Given the description of an element on the screen output the (x, y) to click on. 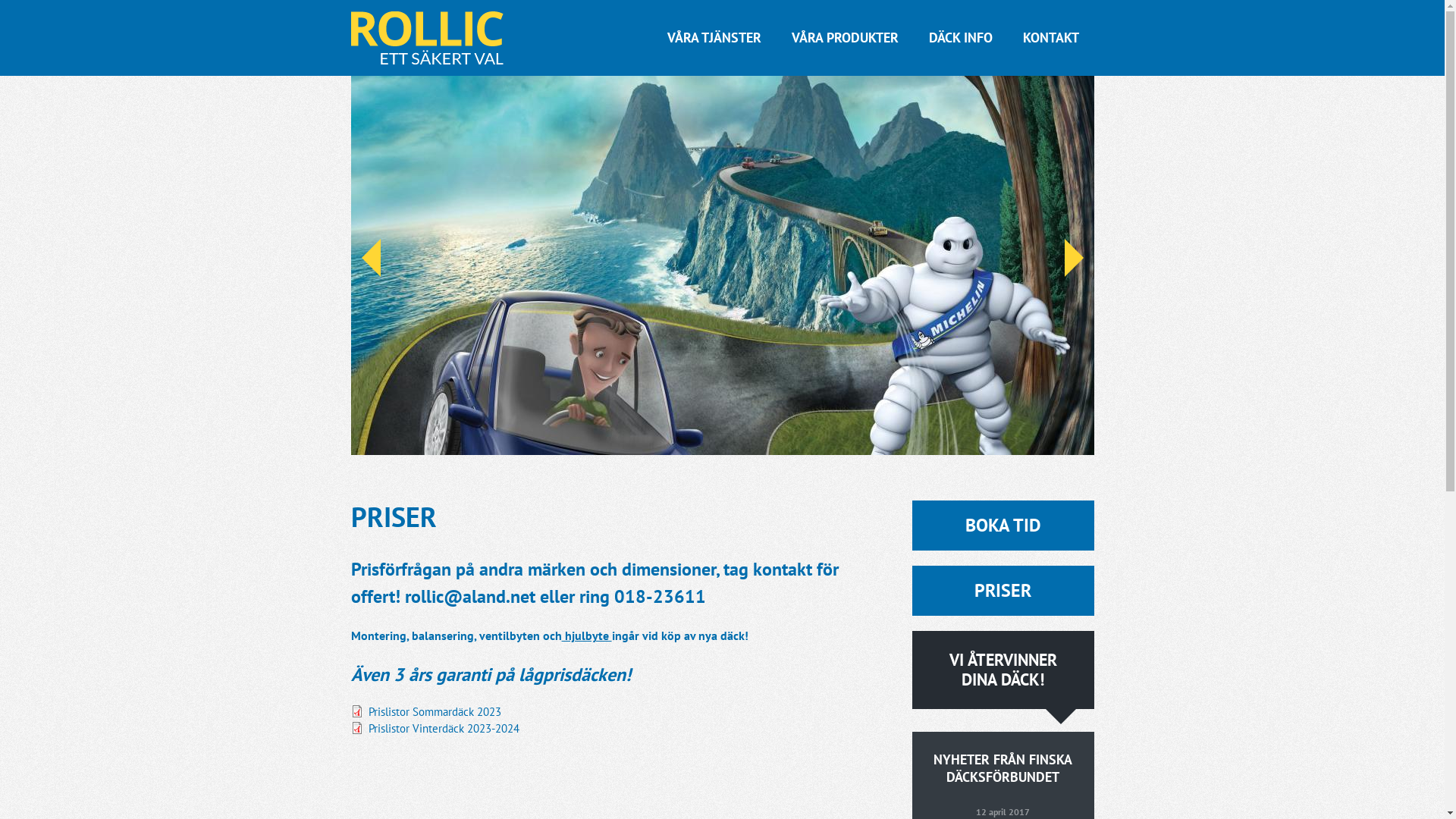
Hemsida Element type: hover (426, 37)
application/pdf Element type: hover (356, 710)
BOKA TID Element type: text (1002, 525)
rollic@aland.net Element type: text (469, 596)
KONTAKT Element type: text (1050, 37)
ROLLIC AB Element type: text (359, 206)
PRISER Element type: text (1002, 590)
application/pdf Element type: hover (356, 727)
